Given the description of an element on the screen output the (x, y) to click on. 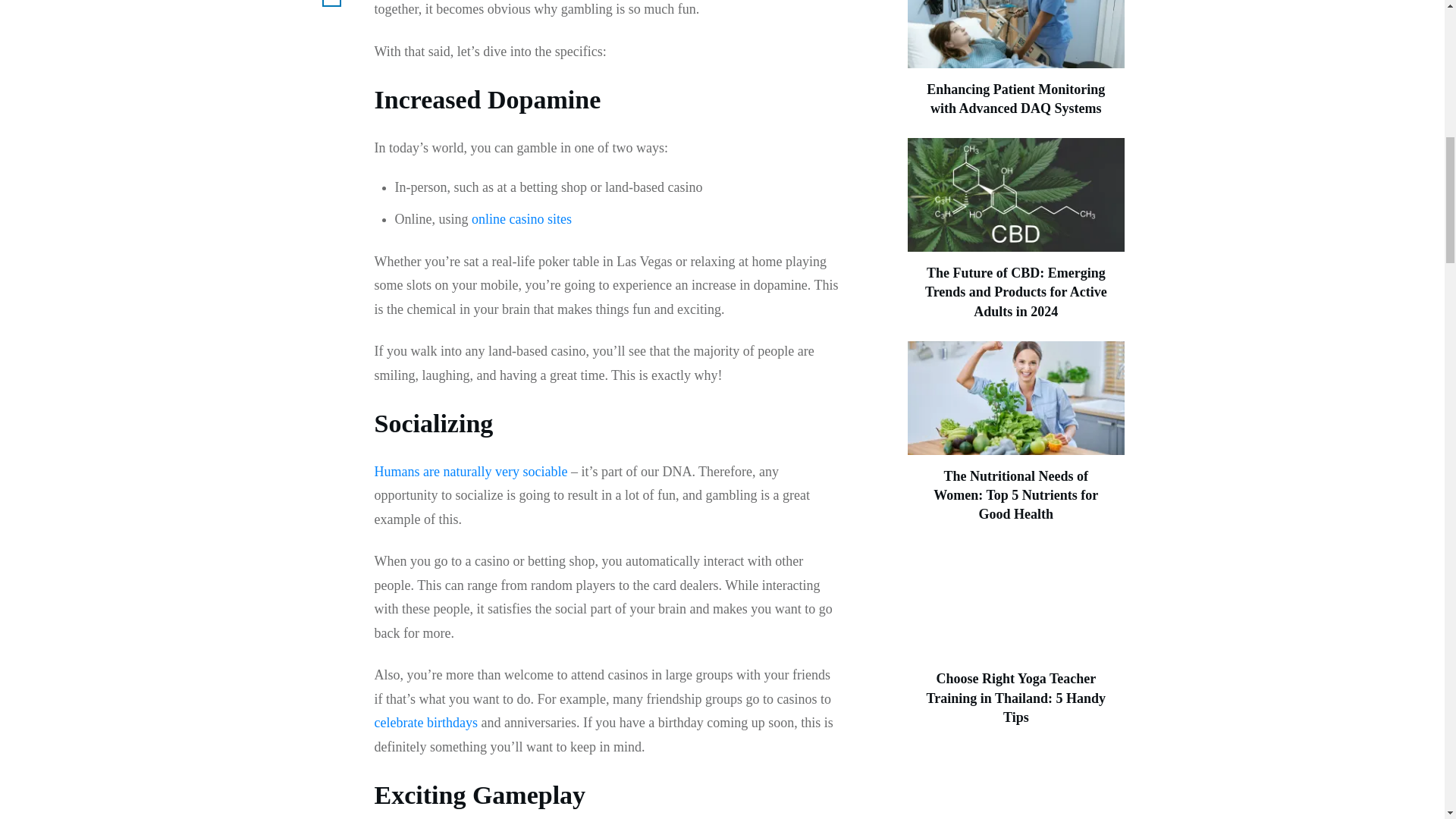
online casino sites (521, 218)
Enhancing Patient Monitoring with Advanced DAQ Systems (1015, 98)
Humans are naturally very sociable (470, 471)
celebrate birthdays (425, 722)
